Given the description of an element on the screen output the (x, y) to click on. 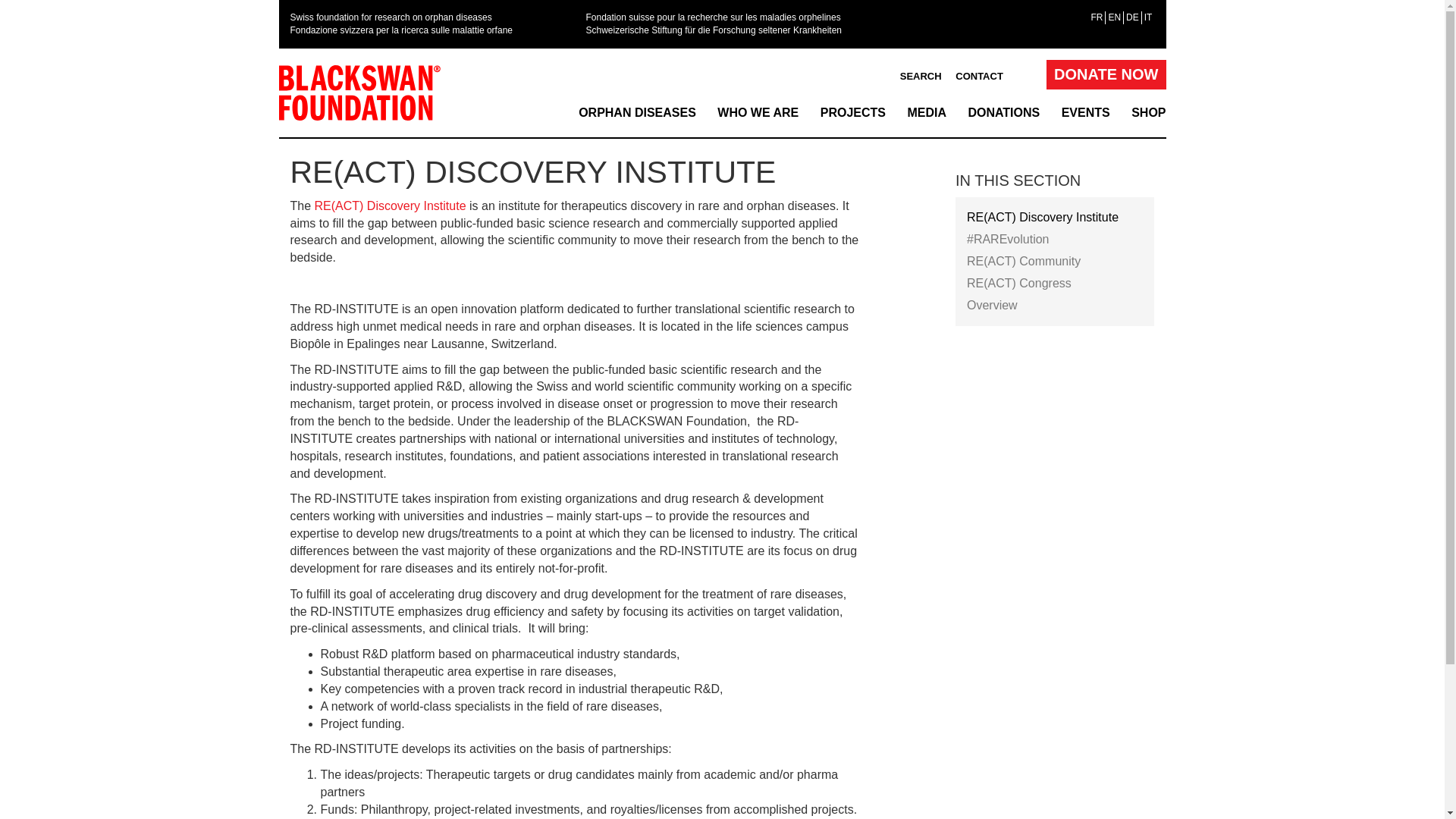
WHO WE ARE Element type: text (757, 112)
CONTACT Element type: text (979, 76)
SHOP Element type: text (1148, 112)
EVENTS Element type: text (1085, 112)
RE(ACT) Congress Element type: text (1054, 283)
FR Element type: text (1096, 17)
DE Element type: text (1132, 17)
IT Element type: text (1148, 17)
RE(ACT) Discovery Institute Element type: text (390, 205)
SEARCH Element type: text (920, 76)
DONATIONS Element type: text (1003, 112)
#RAREvolution Element type: text (1054, 239)
EN Element type: text (1113, 17)
PROJECTS Element type: text (852, 112)
Overview Element type: text (1054, 305)
MEDIA Element type: text (926, 112)
DONATE NOW Element type: text (1105, 74)
RE(ACT) Discovery Institute Element type: text (1054, 217)
RE(ACT) Community Element type: text (1054, 261)
ORPHAN DISEASES Element type: text (637, 112)
